Given the description of an element on the screen output the (x, y) to click on. 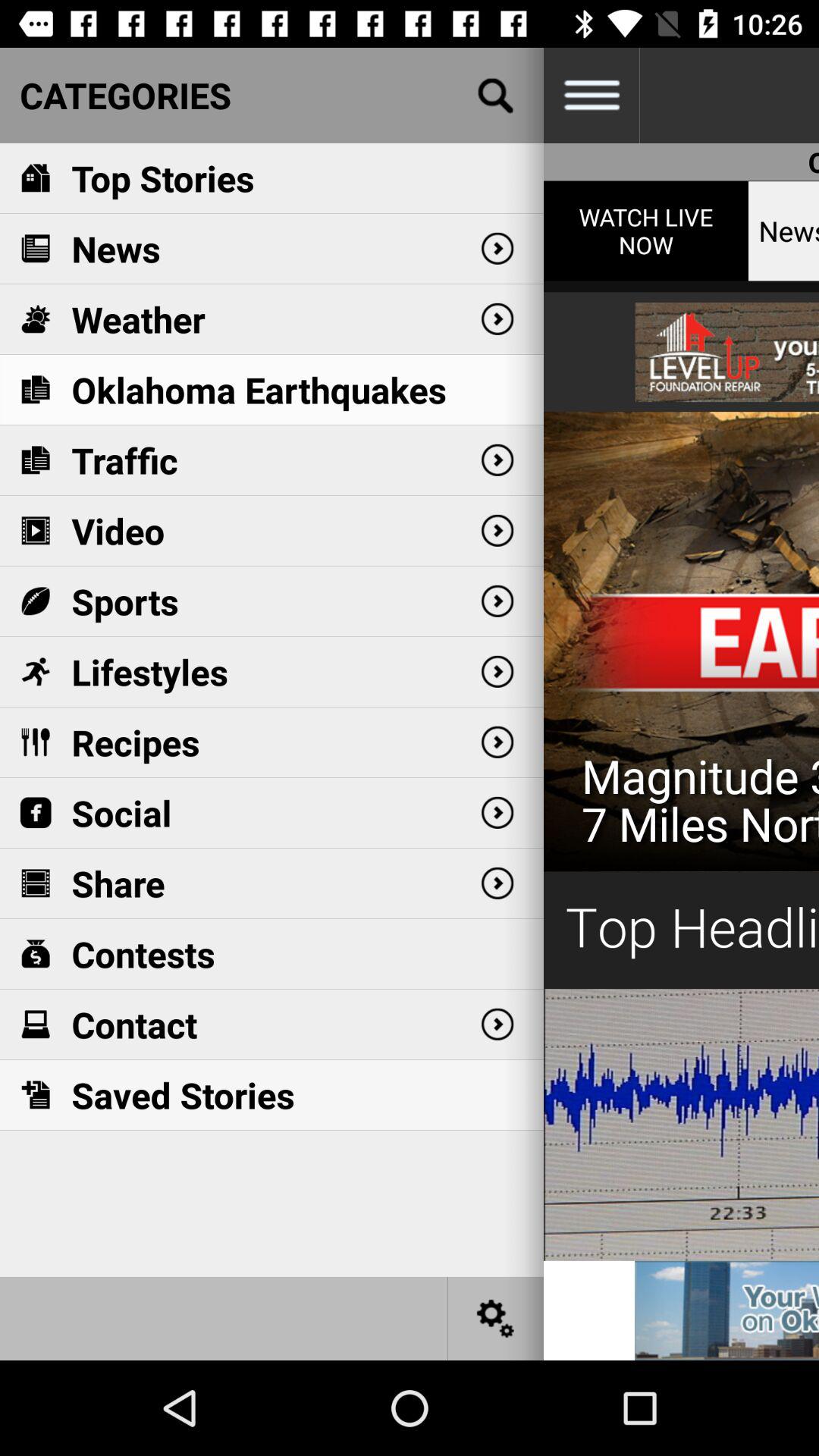
open page list (591, 95)
